Given the description of an element on the screen output the (x, y) to click on. 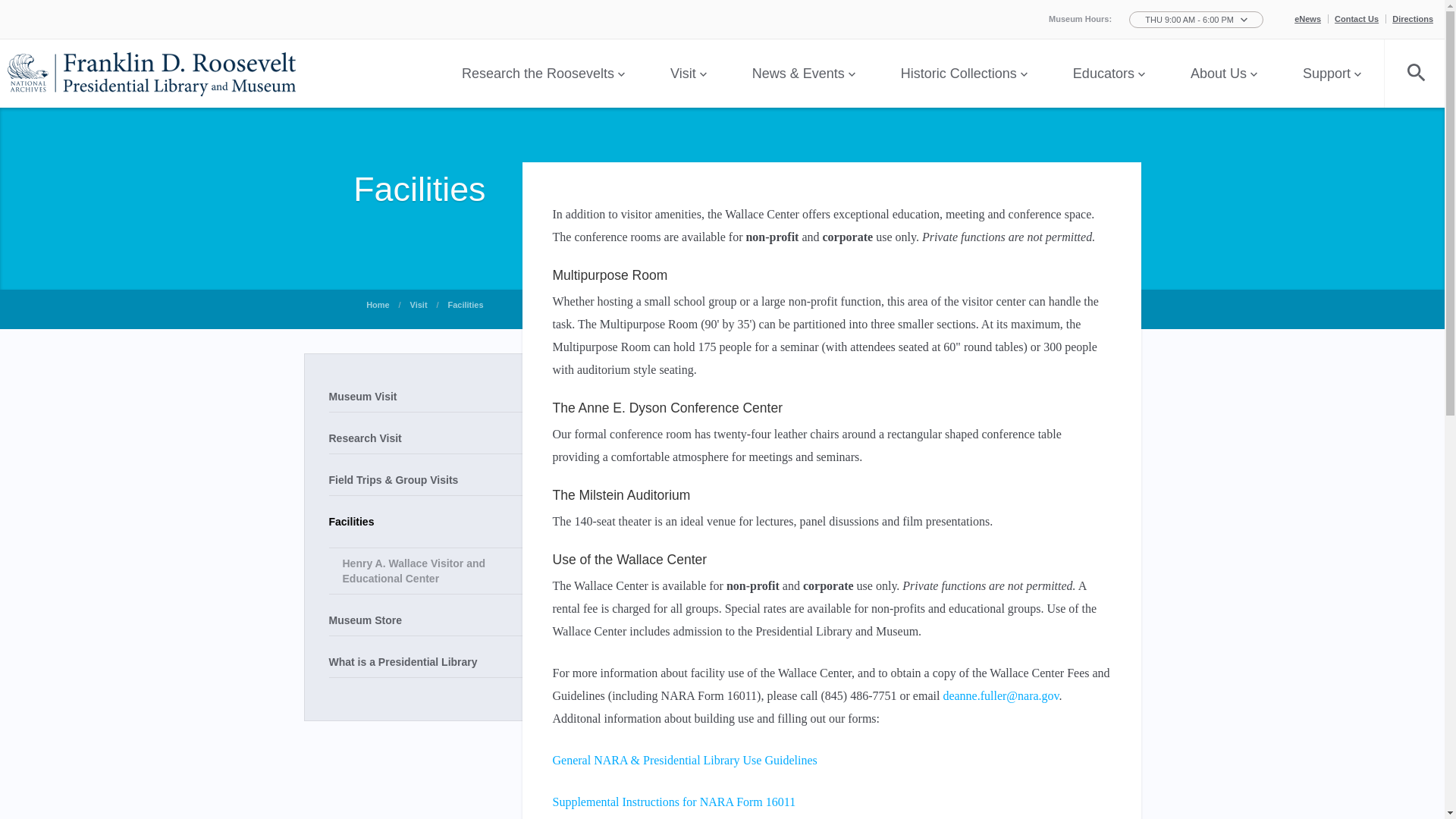
Directions (1411, 18)
Historic Collections (963, 72)
eNews (1310, 18)
Contact Us (1360, 18)
Research the Roosevelts (543, 72)
Visit (688, 72)
THU 9:00 AM - 6:00 PM (1196, 19)
